Given the description of an element on the screen output the (x, y) to click on. 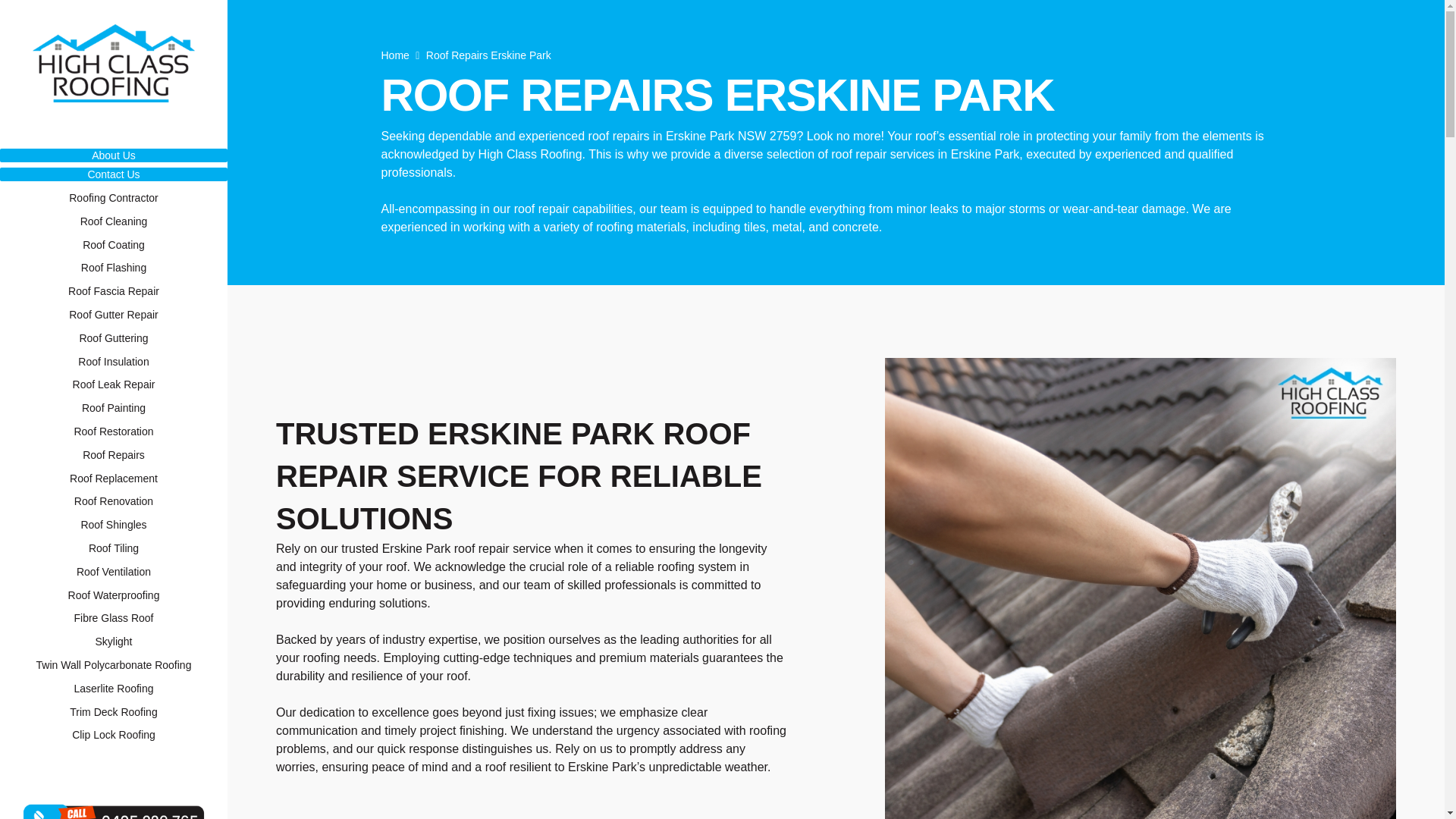
Roof Painting (113, 408)
Enquire Now (109, 774)
Roof Tiling (113, 548)
Roof Shingles (113, 525)
Roof Guttering (113, 338)
Roof Ventilation (113, 571)
Roofing Contractor (113, 197)
Roof Repairs (113, 454)
Roof Gutter Repair (113, 314)
Laserlite Roofing (113, 689)
